Given the description of an element on the screen output the (x, y) to click on. 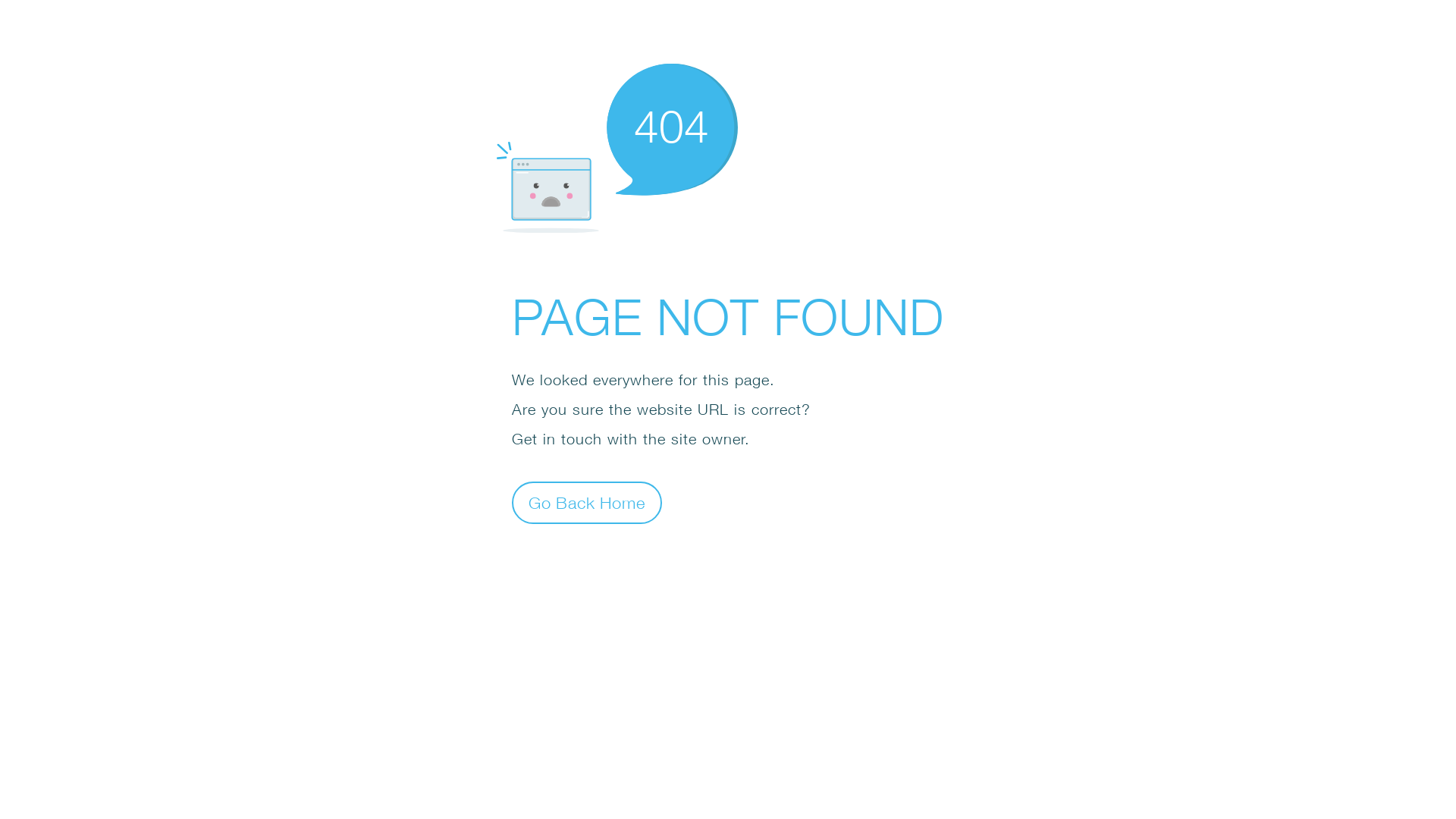
Go Back Home Element type: text (586, 502)
